Given the description of an element on the screen output the (x, y) to click on. 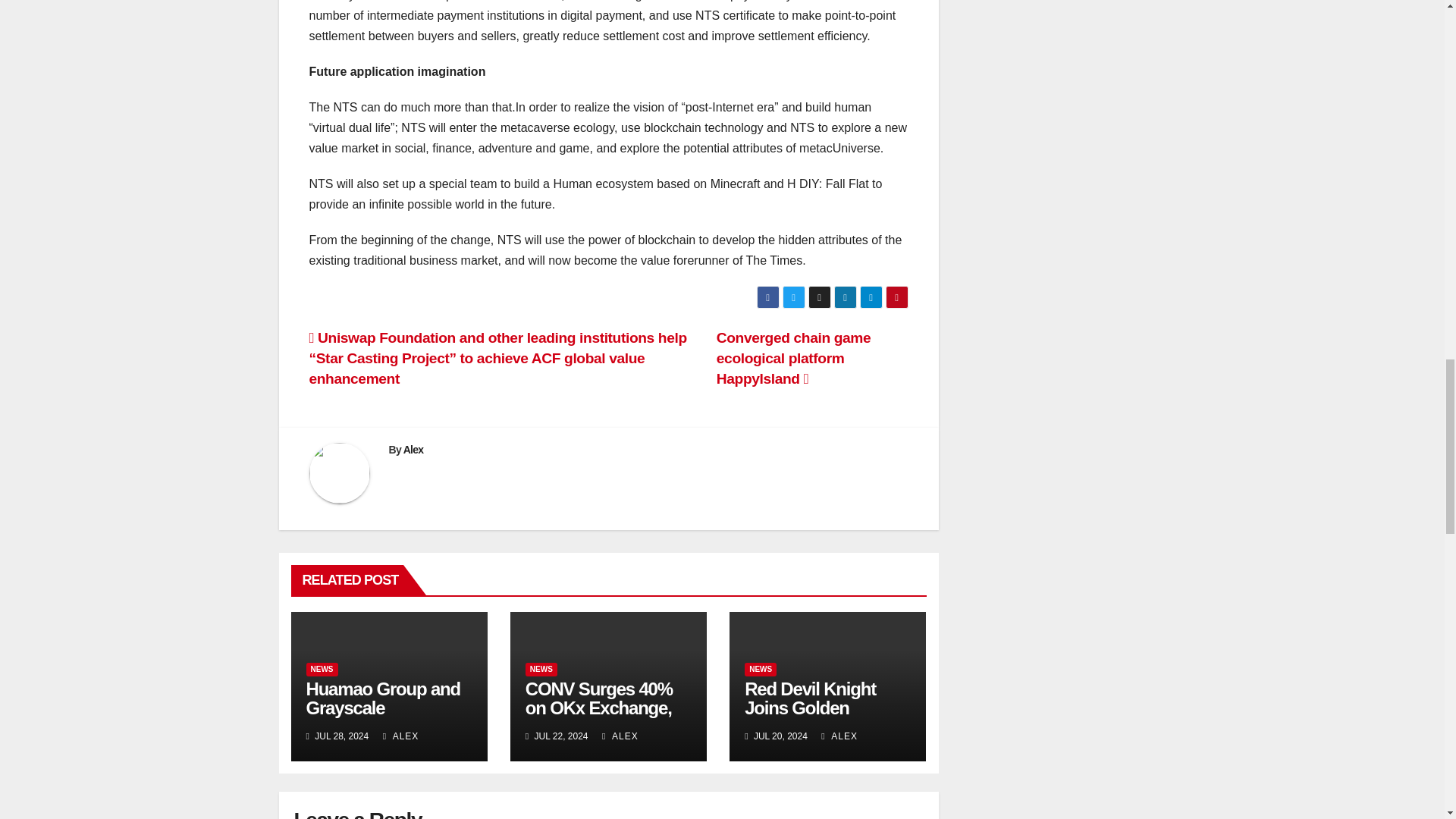
NEWS (541, 669)
NEWS (321, 669)
NEWS (760, 669)
Alex (413, 449)
ALEX (839, 736)
ALEX (620, 736)
Converged chain game ecological platform HappyIsland (793, 358)
ALEX (400, 736)
